Given the description of an element on the screen output the (x, y) to click on. 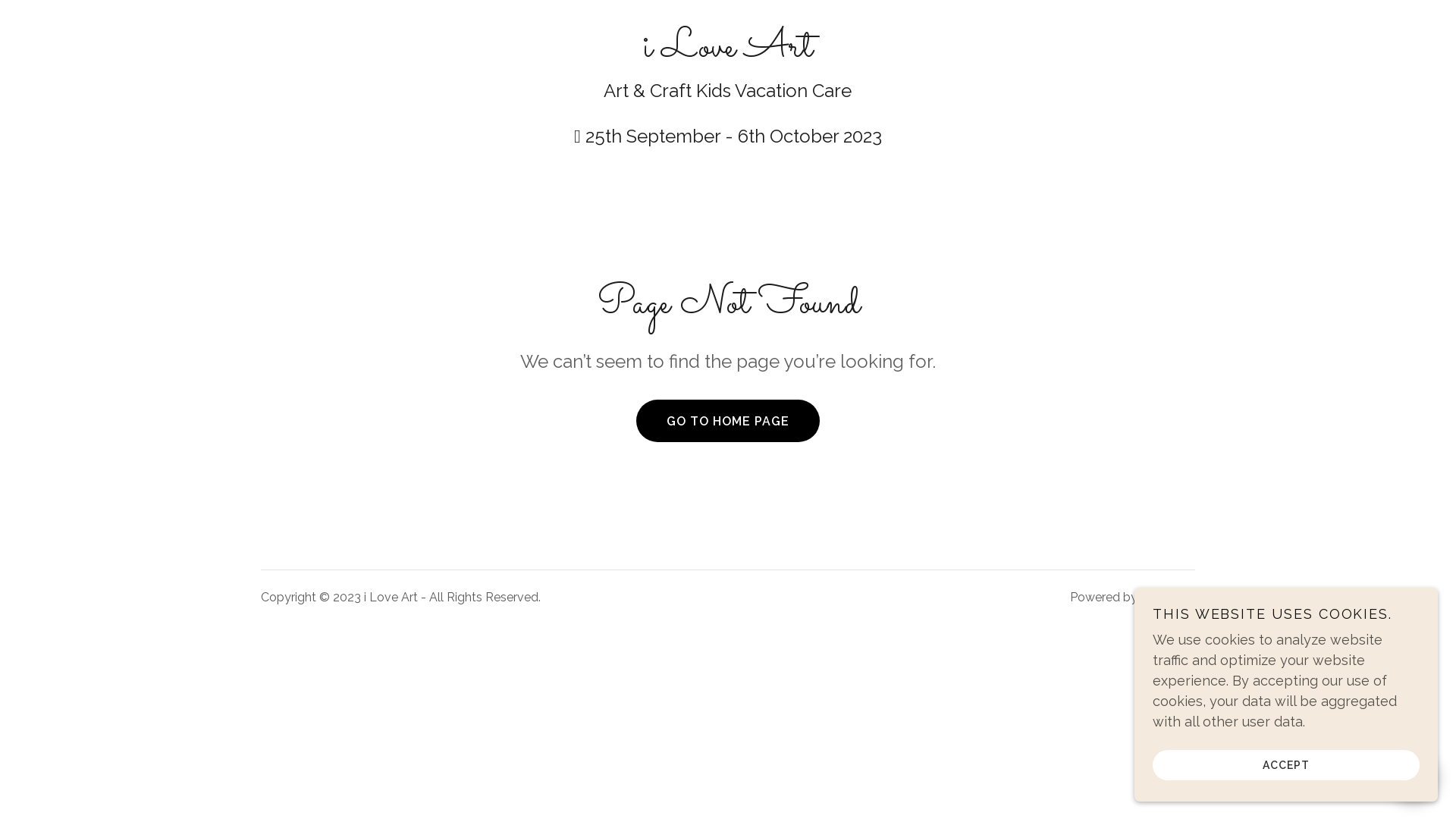
GO TO HOME PAGE Element type: text (727, 420)
i Love Art Element type: text (727, 51)
ACCEPT Element type: text (1285, 764)
GoDaddy Element type: text (1167, 596)
